Given the description of an element on the screen output the (x, y) to click on. 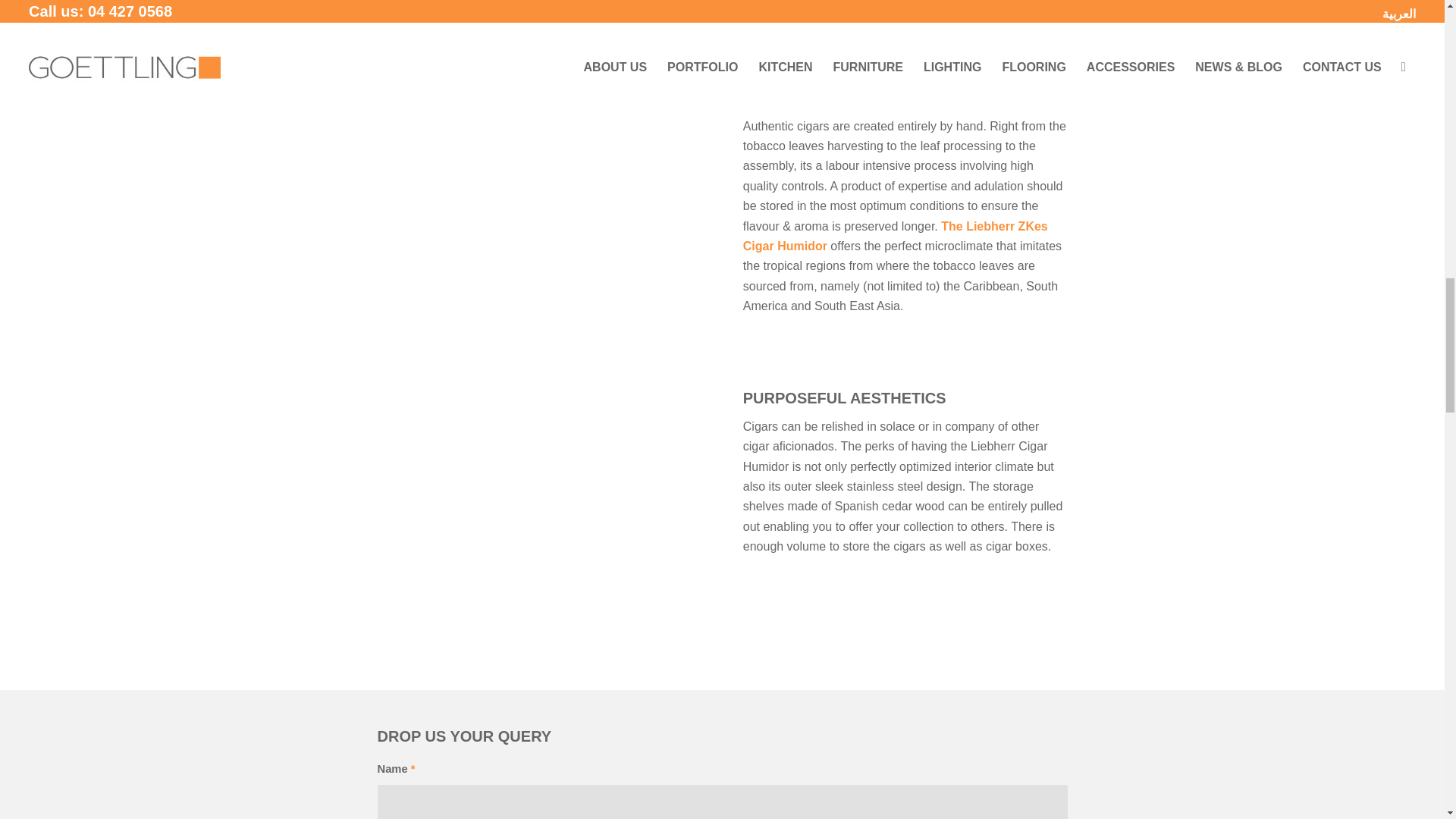
Liebherr-gallery-image-ZKES-2 on countertop (539, 25)
Liebherr-gallery-image-ZKES- 1 afternoon by the fireplace (539, 520)
Liebherr-gallery-image-ZKES-3 (539, 220)
